Given the description of an element on the screen output the (x, y) to click on. 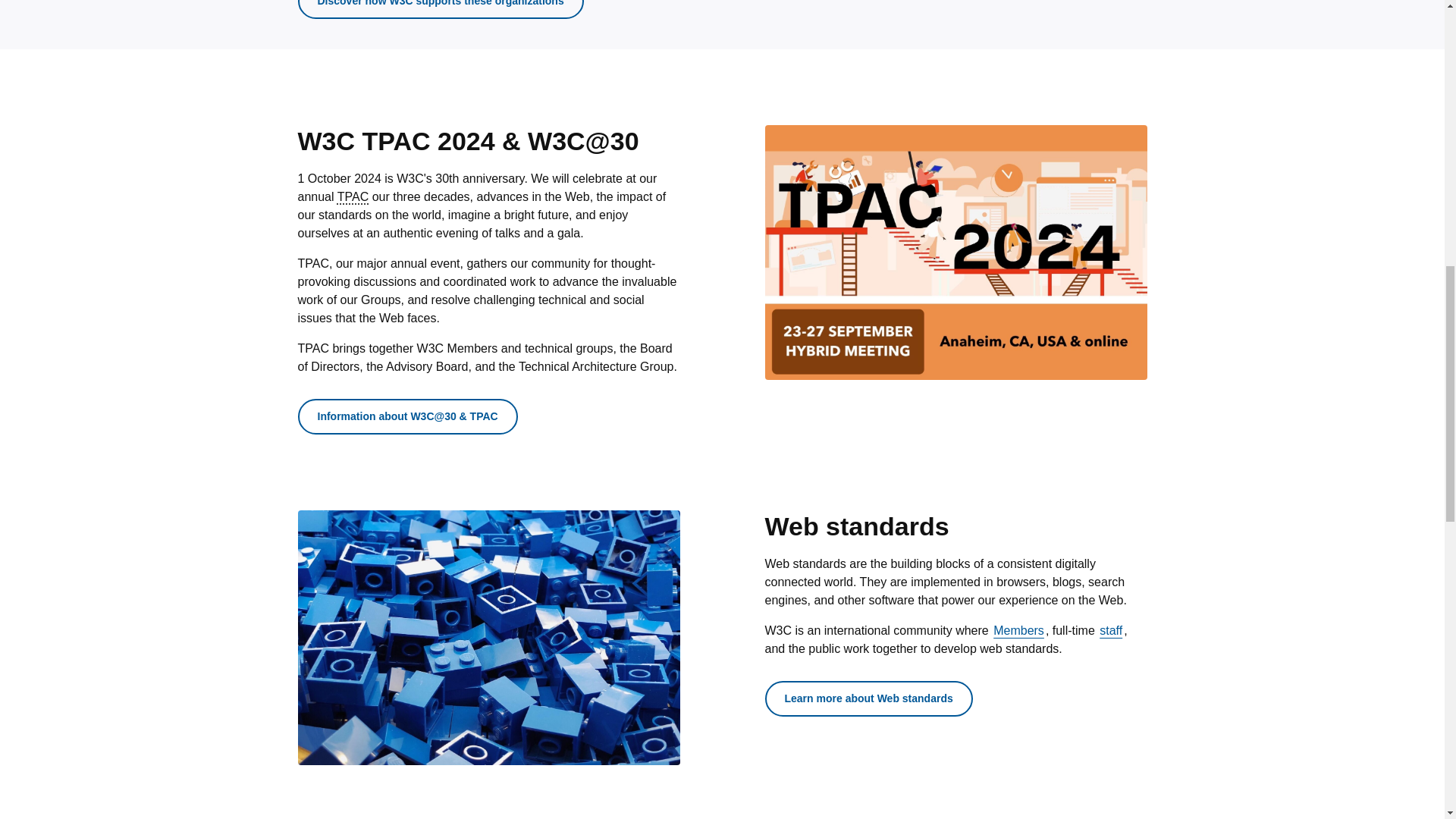
Technical Plenary and Advisory Committee (352, 196)
